Given the description of an element on the screen output the (x, y) to click on. 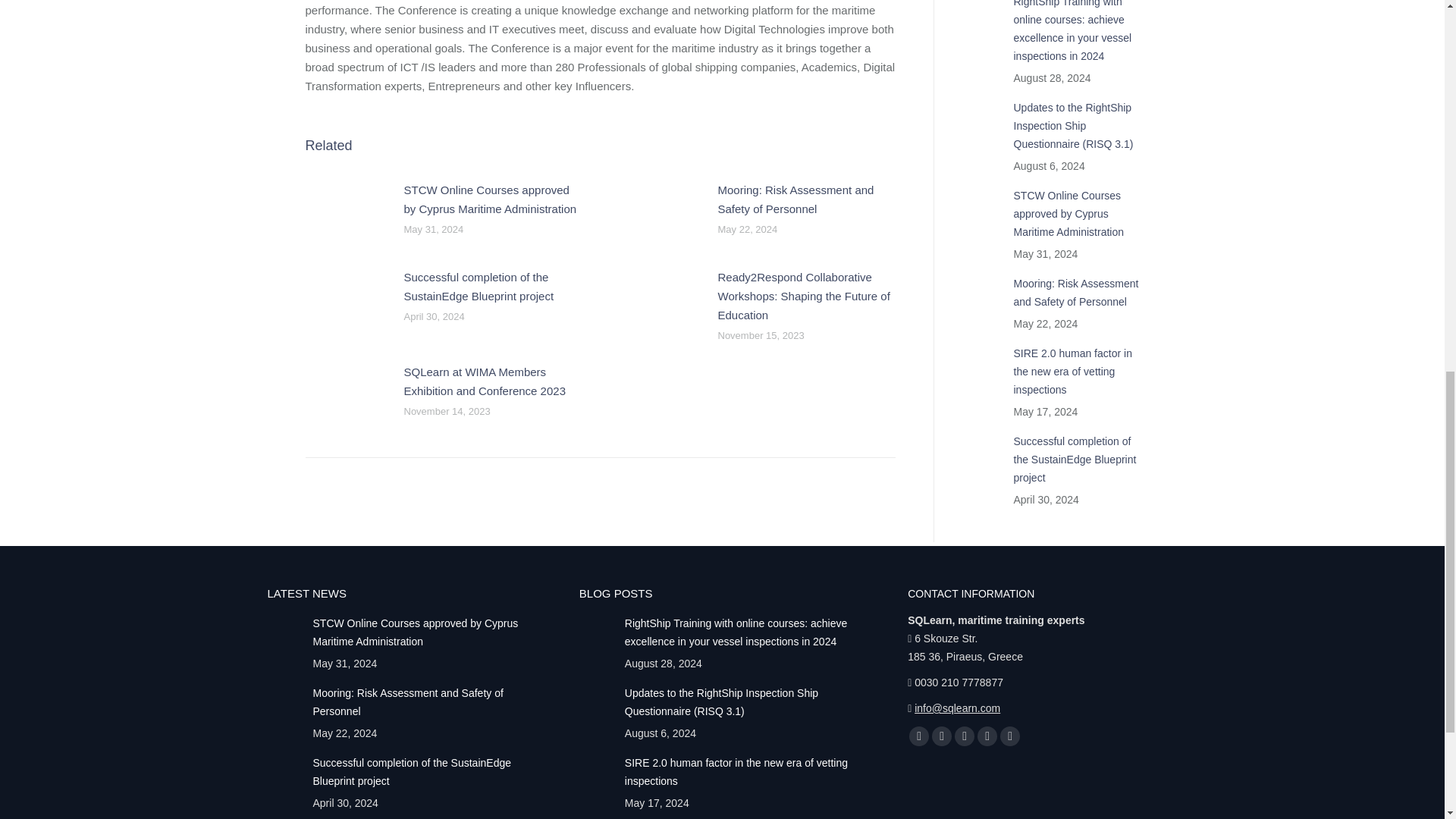
Mail page opens in new window (1010, 736)
YouTube page opens in new window (964, 736)
Twitter page opens in new window (941, 736)
Linkedin page opens in new window (986, 736)
Facebook page opens in new window (918, 736)
